Given the description of an element on the screen output the (x, y) to click on. 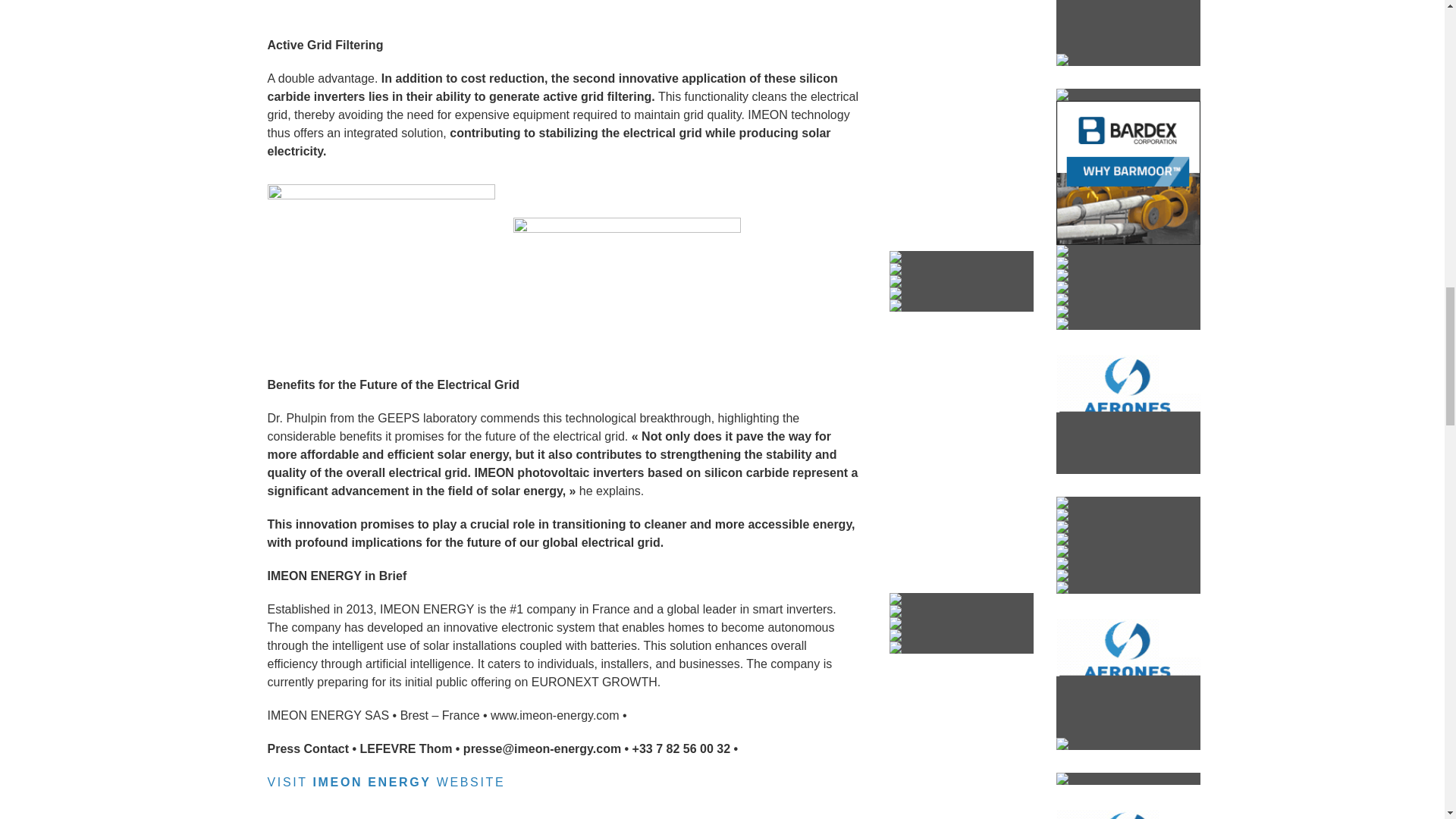
VISIT IMEON ENERGY WEBSITE (385, 781)
